Given the description of an element on the screen output the (x, y) to click on. 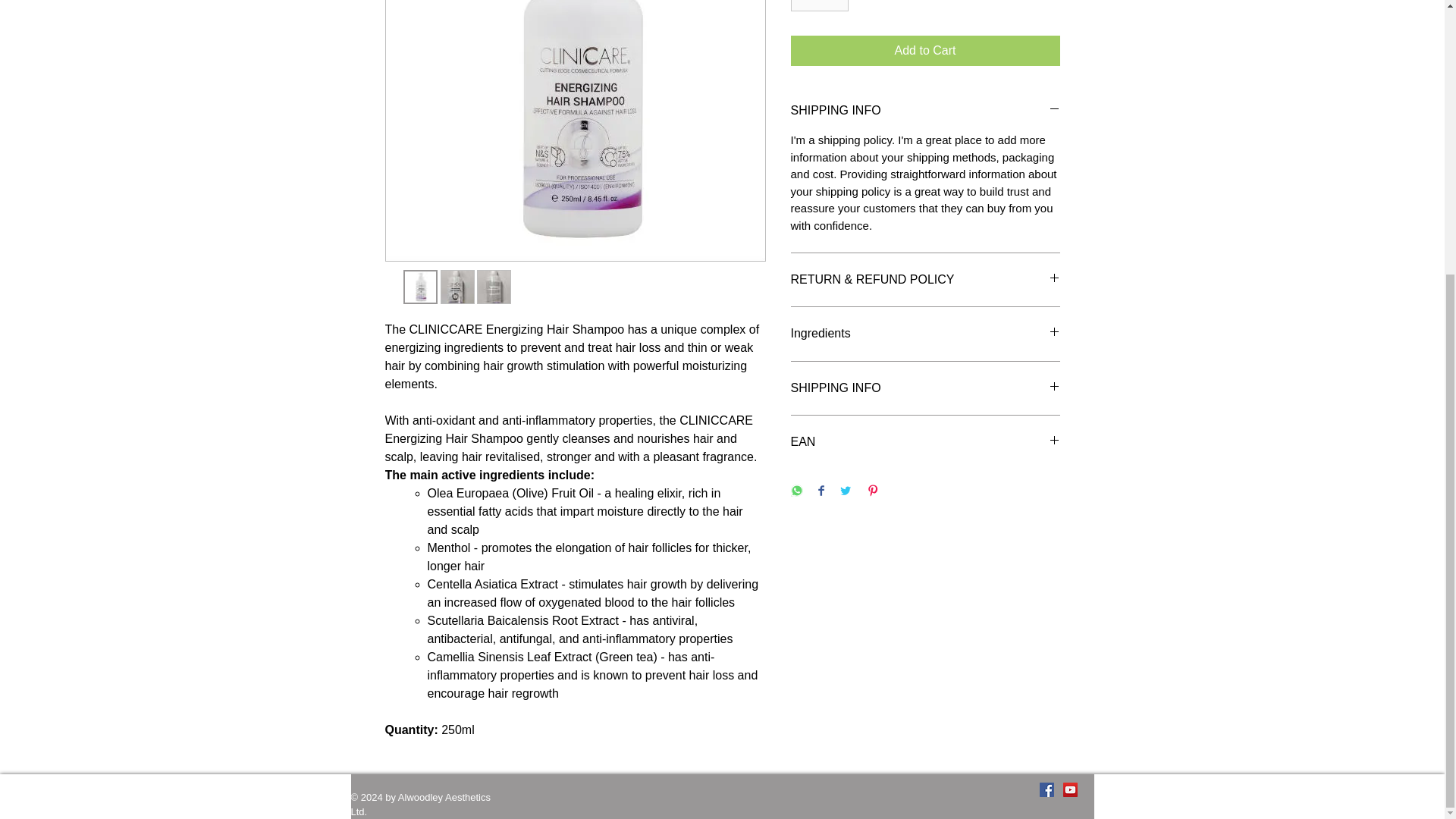
SHIPPING INFO (924, 110)
SHIPPING INFO (924, 388)
Ingredients (924, 333)
1 (818, 5)
Add to Cart (924, 51)
